Given the description of an element on the screen output the (x, y) to click on. 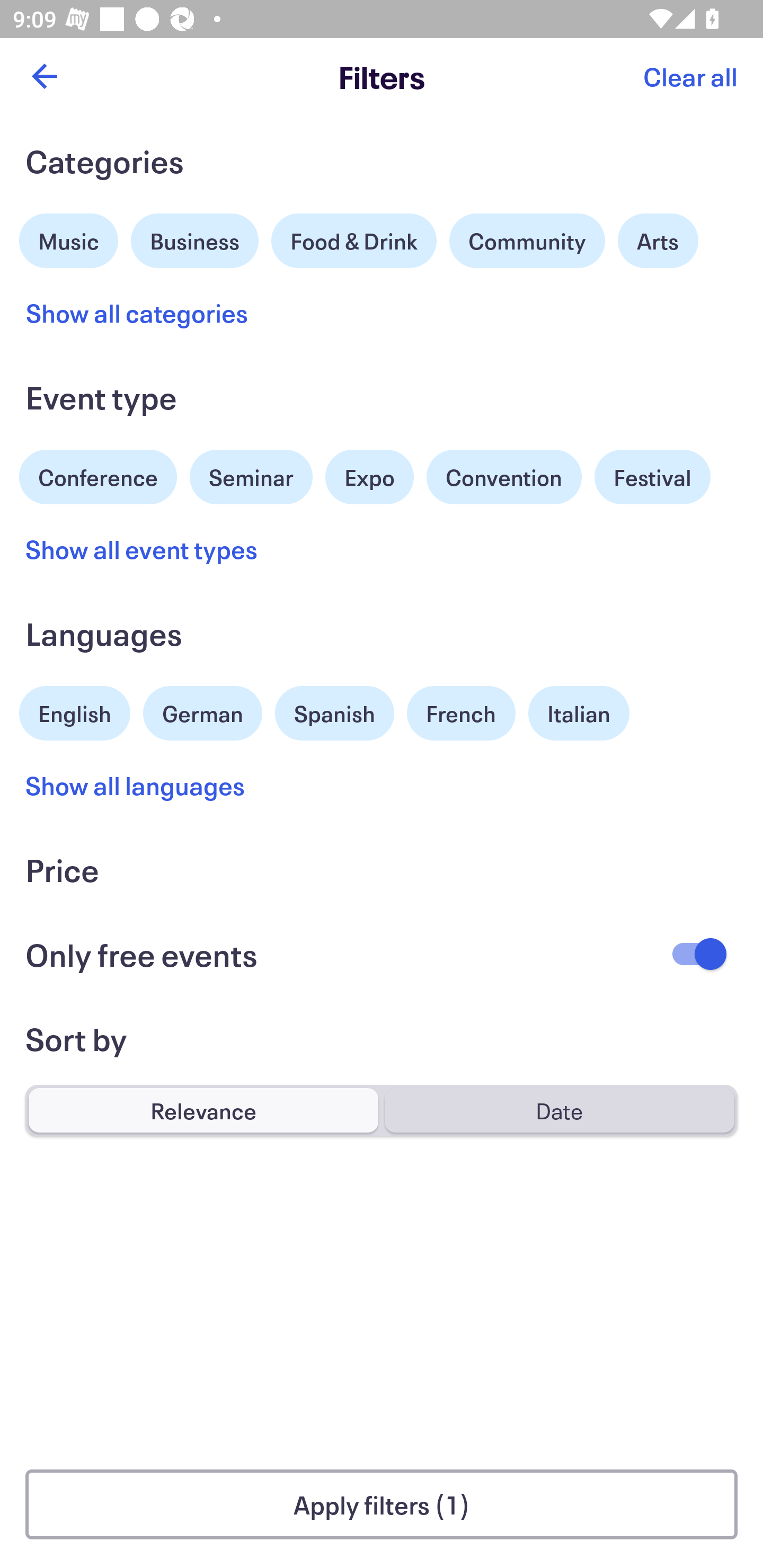
Back button (44, 75)
Clear all (690, 75)
Music (68, 238)
Business (194, 238)
Food & Drink (353, 240)
Community (527, 240)
Arts (658, 240)
Show all categories (136, 312)
Conference (98, 475)
Seminar (250, 477)
Expo (369, 477)
Convention (503, 477)
Festival (652, 477)
Show all event types (141, 548)
English (74, 710)
German (202, 710)
Spanish (334, 713)
French (460, 713)
Italian (578, 713)
Show all languages (135, 784)
Relevance (203, 1109)
Date (559, 1109)
Apply filters (1) (381, 1504)
